Given the description of an element on the screen output the (x, y) to click on. 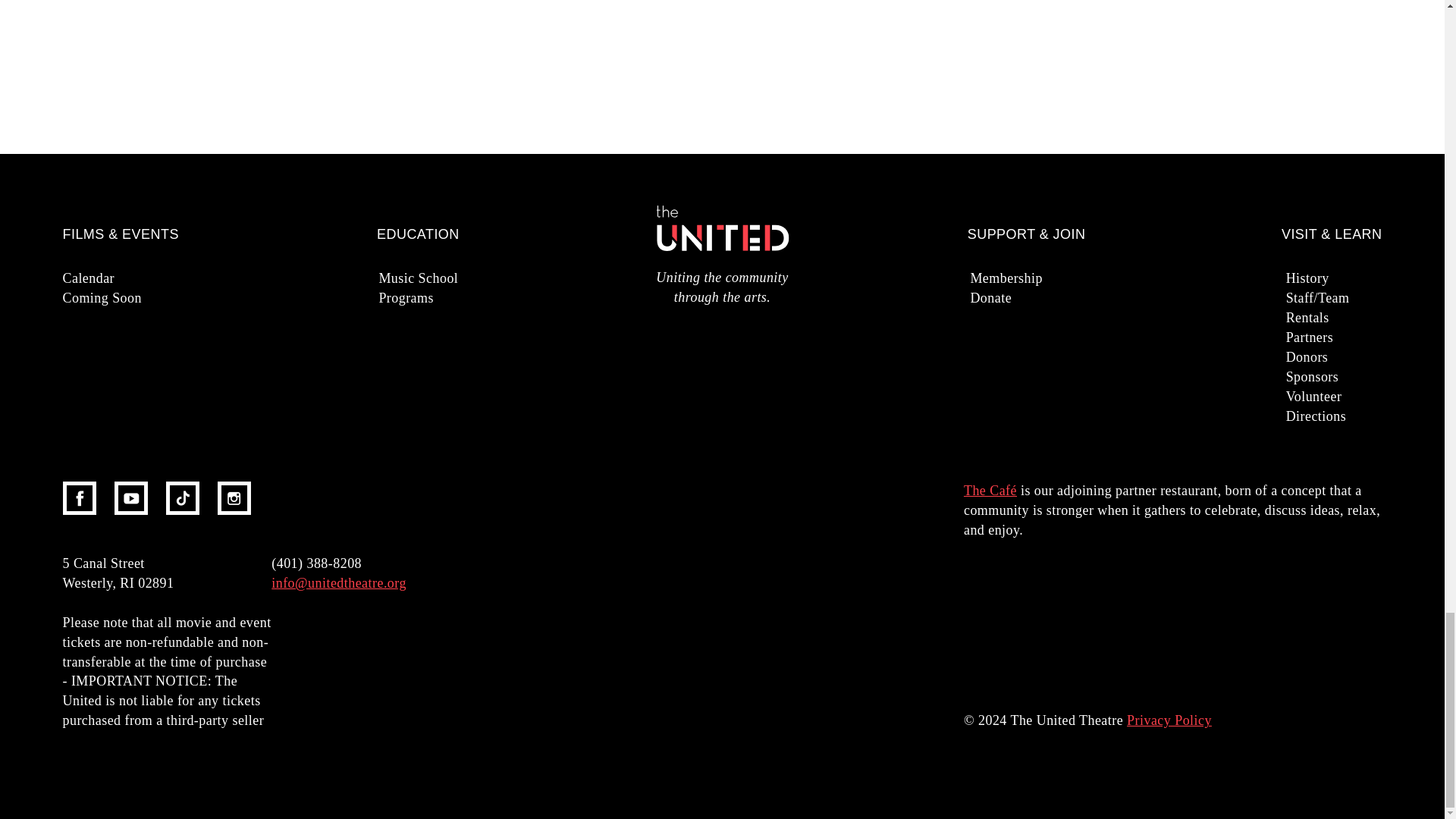
Music School (453, 278)
Calendar (138, 278)
Coming Soon (138, 297)
Partners (1361, 337)
United Theatre (722, 232)
Rentals (1361, 317)
EDUCATION (418, 234)
History (1361, 278)
Sponsors (1361, 376)
Programs (453, 297)
Donors (1361, 356)
